Given the description of an element on the screen output the (x, y) to click on. 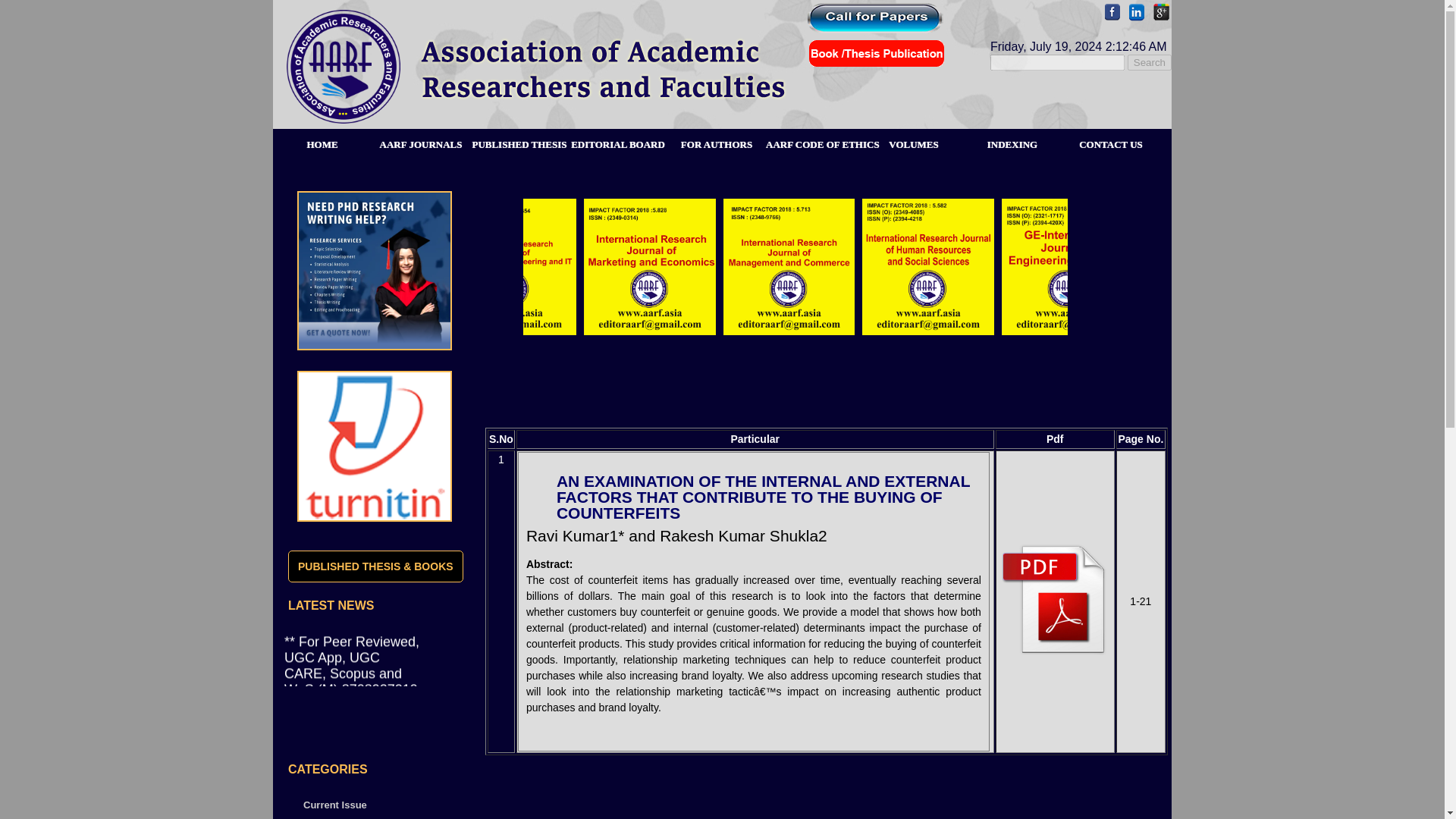
INDEXING (1011, 139)
AARF CODE OF ETHICS (814, 139)
HOME (322, 139)
Search (1149, 62)
AARF JOURNALS (420, 139)
PUBLISHED THESIS (519, 139)
VOLUMES (913, 139)
Search (1149, 62)
FOR AUTHORS (715, 139)
CONTACT US (1110, 139)
EDITORIAL BOARD (617, 139)
Current Issue (334, 804)
